Given the description of an element on the screen output the (x, y) to click on. 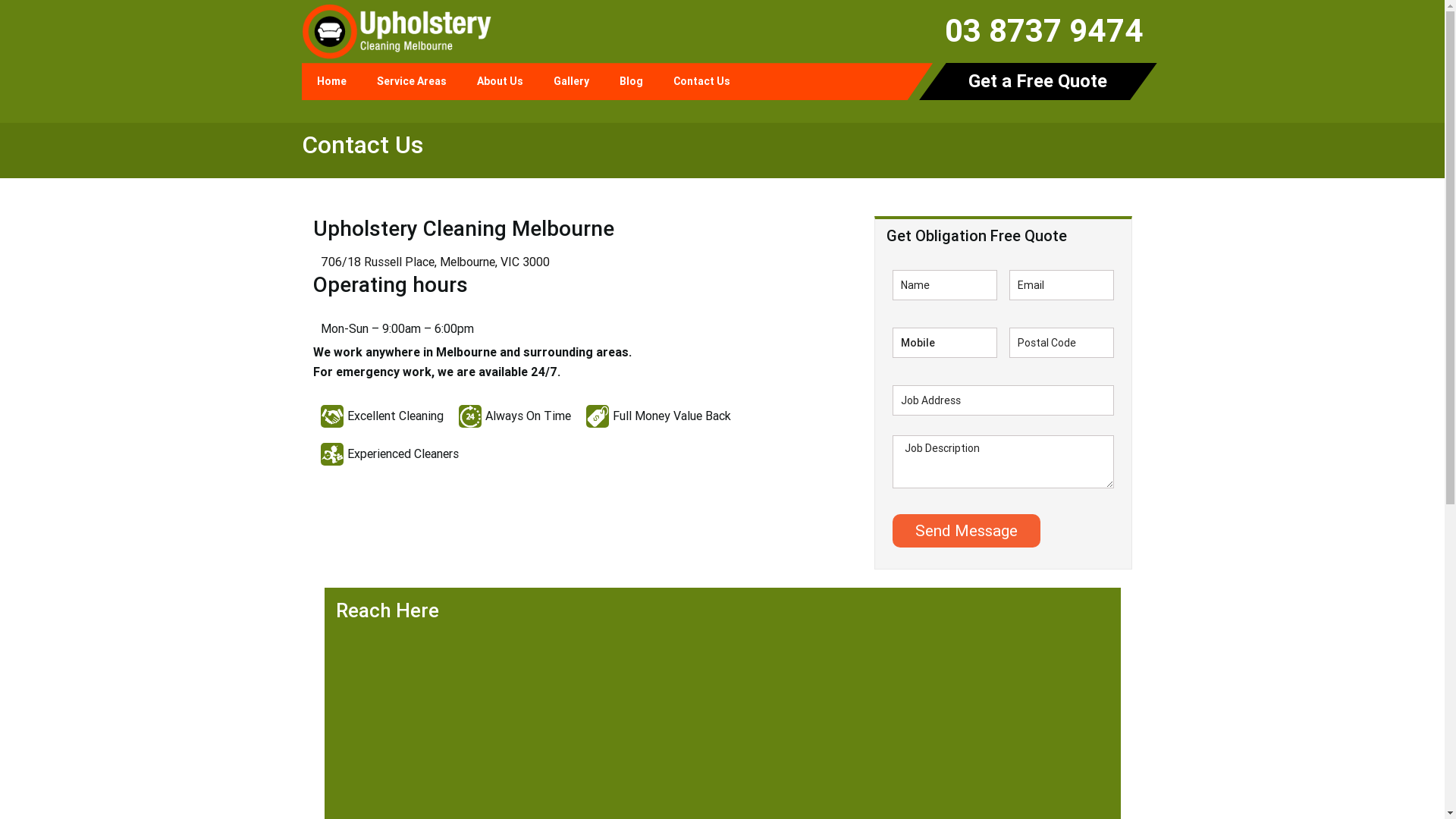
Blog Element type: text (630, 81)
Gallery Element type: text (571, 81)
Send Message Element type: text (965, 530)
About Us Element type: text (499, 81)
Contact Us Element type: text (701, 81)
Home Element type: text (331, 81)
Service Areas Element type: text (410, 81)
Get a Free Quote Element type: text (1037, 81)
03 8737 9474 Element type: text (1043, 30)
706/18 Russell Place, Melbourne, VIC 3000 Element type: text (434, 262)
